Given the description of an element on the screen output the (x, y) to click on. 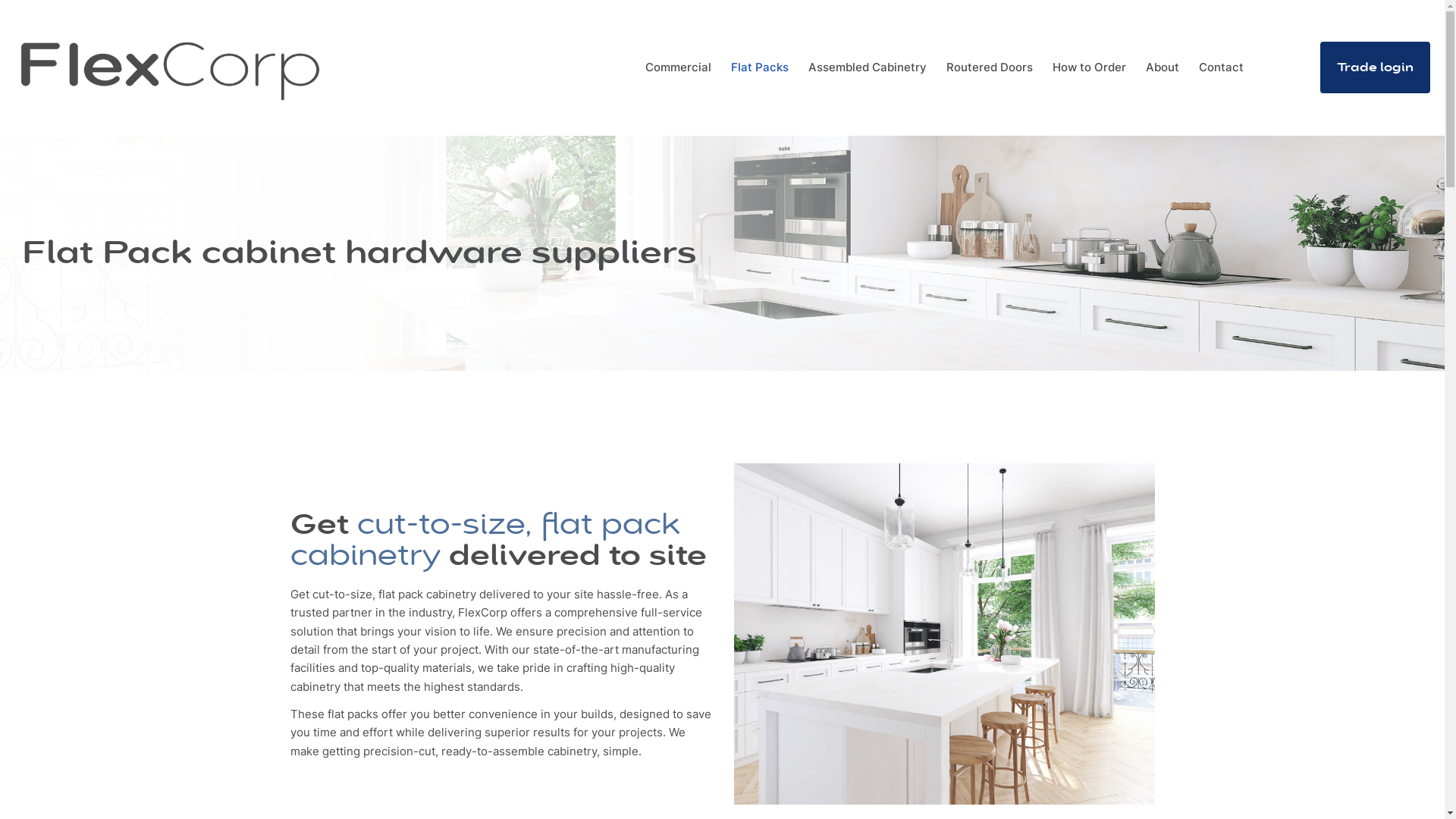
Routered Doors Element type: text (989, 67)
Contact Element type: text (1221, 67)
Trade login Element type: text (1375, 67)
About Element type: text (1162, 67)
How to Order Element type: text (1088, 67)
Flat Packs Element type: text (759, 67)
Assembled Cabinetry Element type: text (867, 67)
Commercial Element type: text (678, 67)
